Given the description of an element on the screen output the (x, y) to click on. 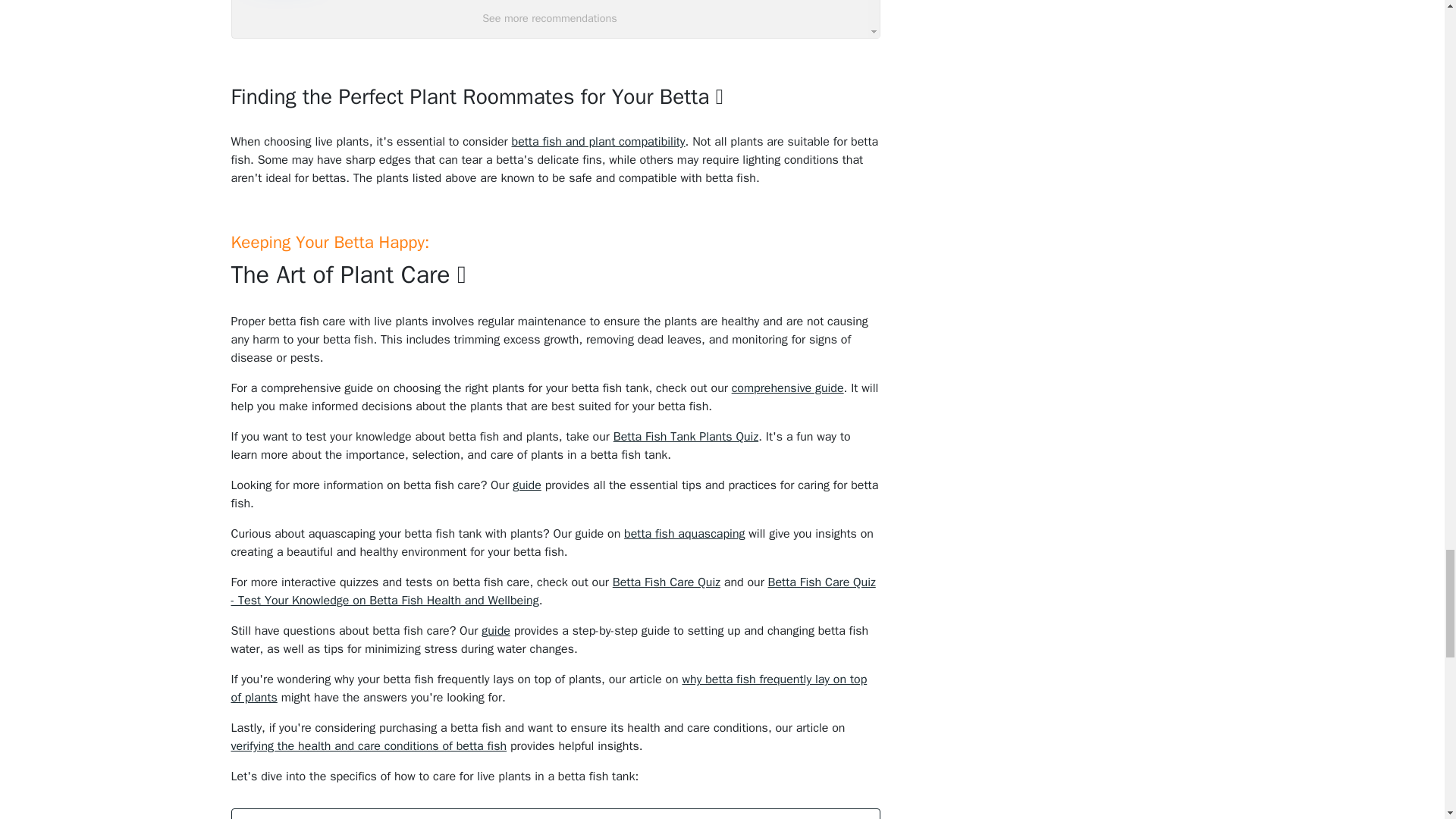
Can Betta Fish Thrive with Plants? (684, 533)
Choosing the Right Plants for Your Betta Fish Tank (788, 387)
What are the Essentials for Keeping a Betta Fish Happy (496, 630)
Why Does My Betta Fish Frequently Lay on Top of Plants (548, 688)
How Do You Take Care of a Betta Fish (526, 485)
Betta Fish Tank Plants Quiz (685, 436)
Betta Fish Care Quiz (666, 581)
